Given the description of an element on the screen output the (x, y) to click on. 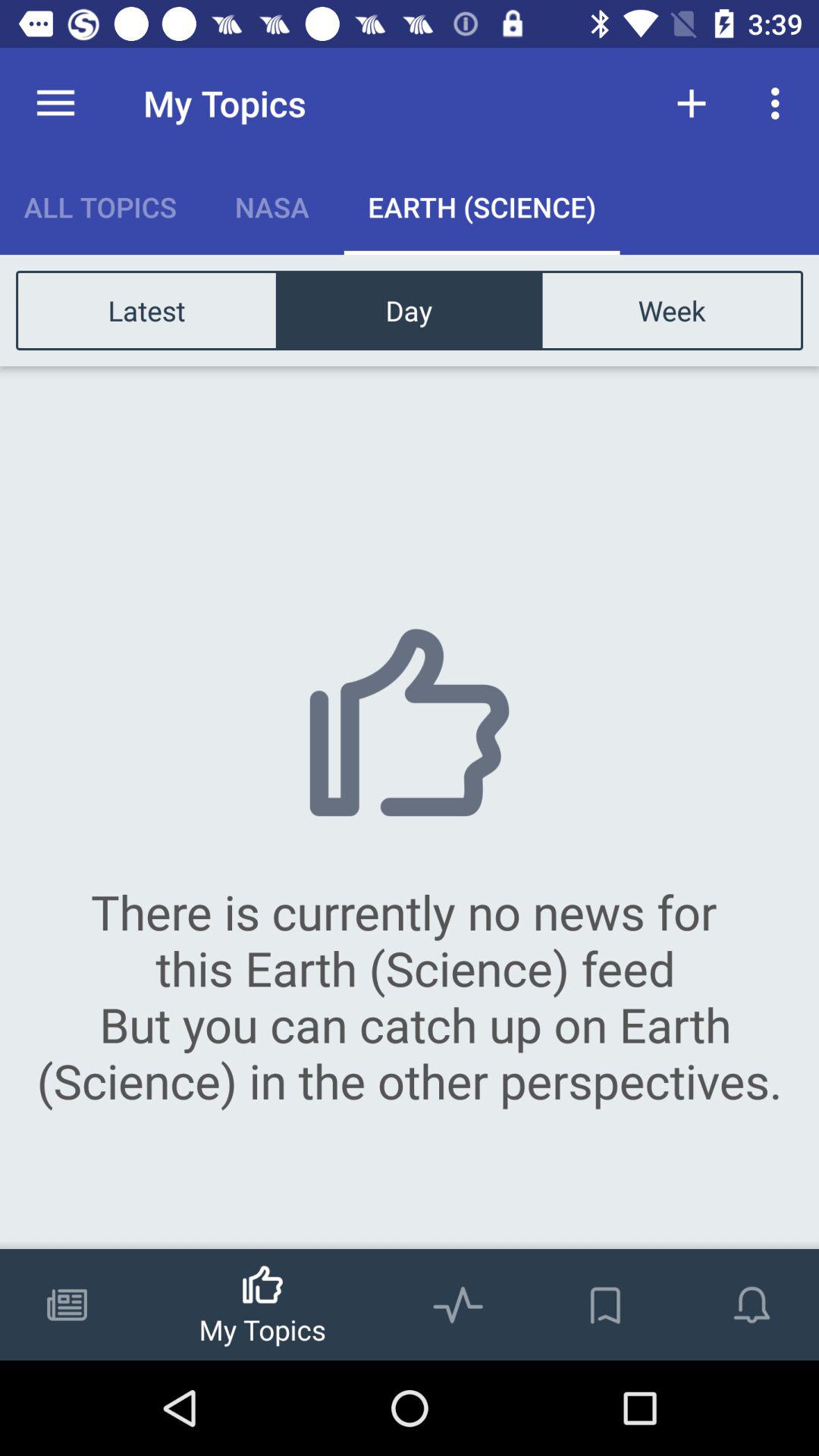
turn on the item next to my topics item (691, 103)
